Given the description of an element on the screen output the (x, y) to click on. 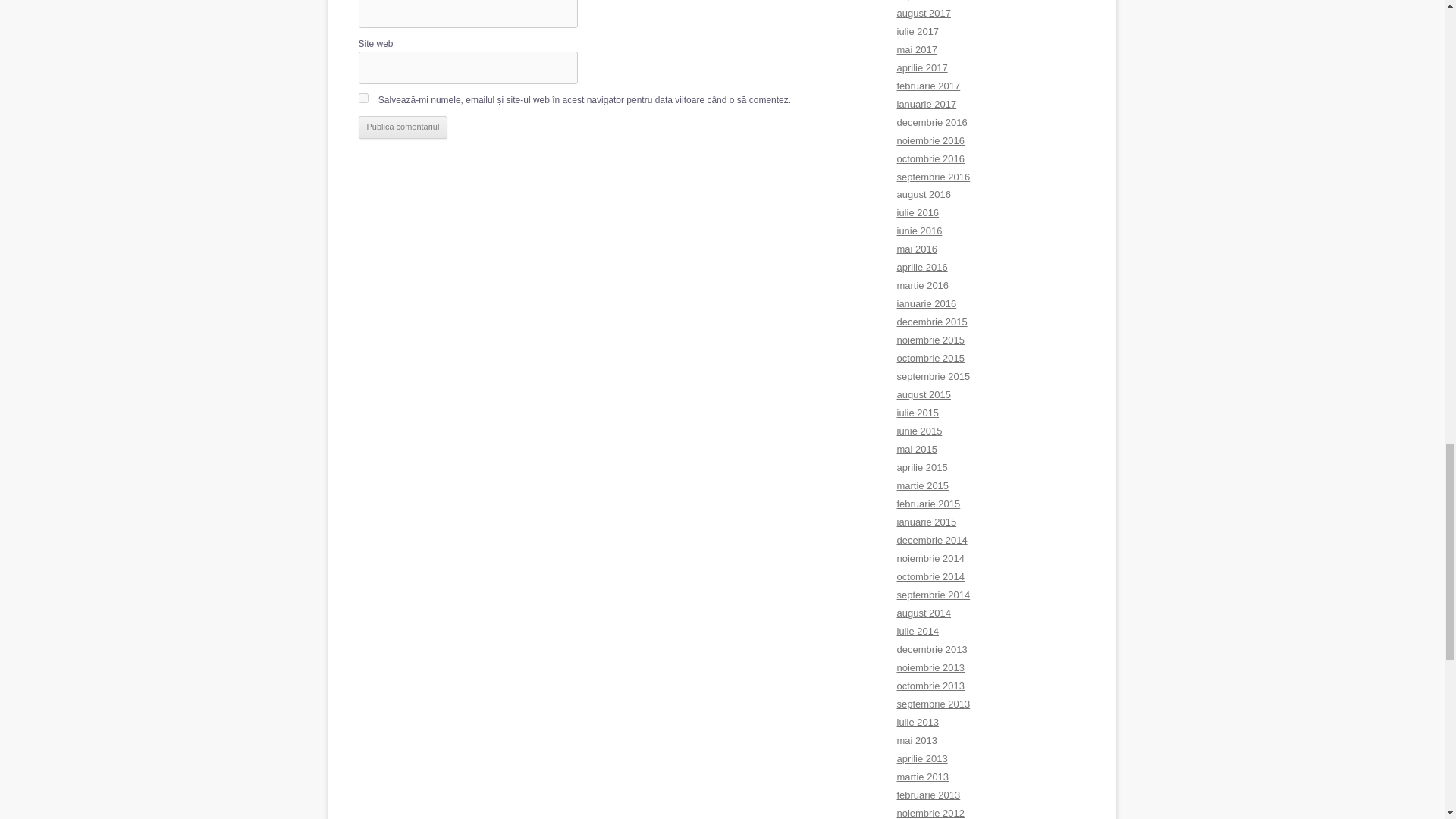
yes (363, 98)
